Given the description of an element on the screen output the (x, y) to click on. 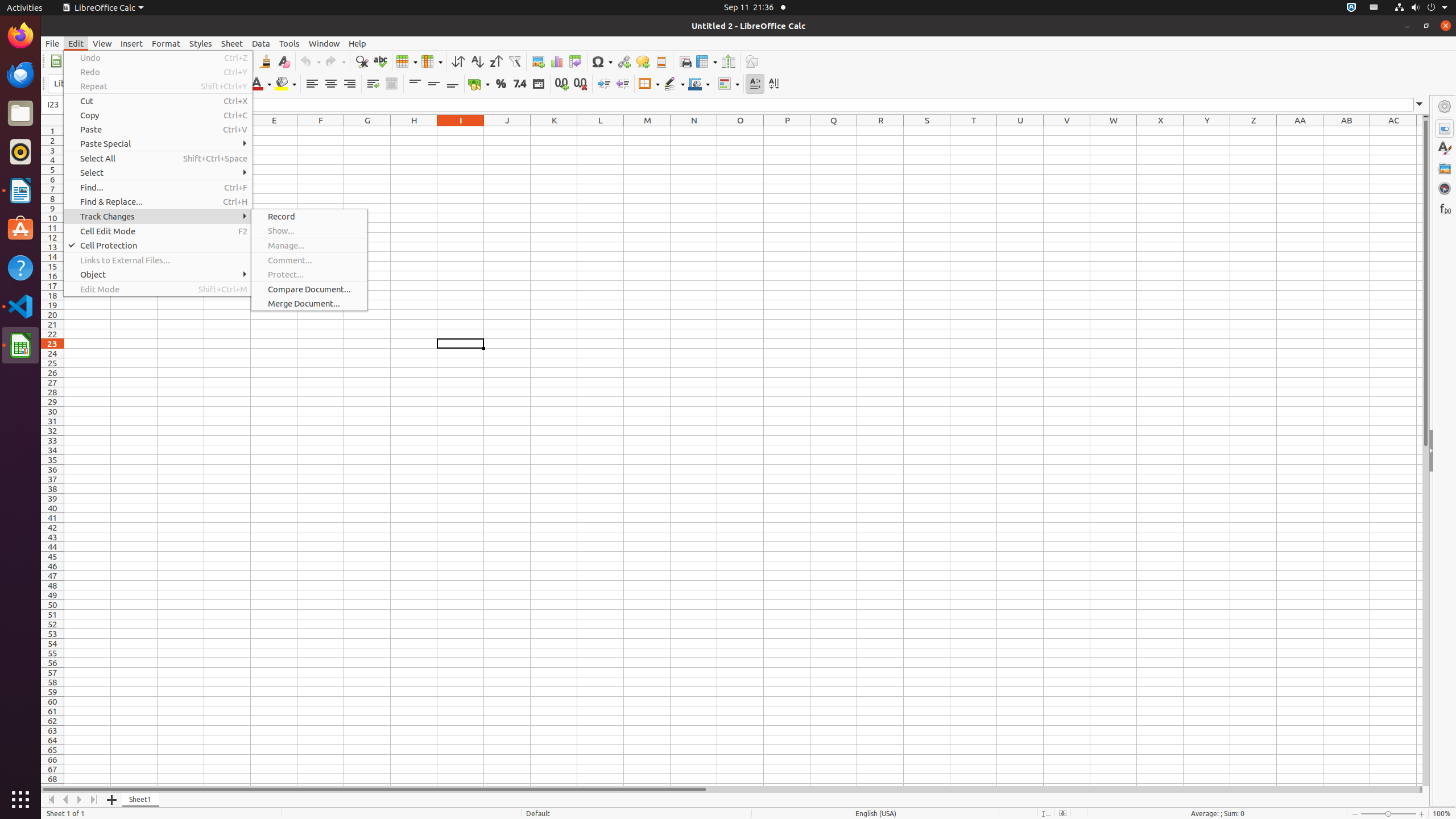
Protect... Element type: menu-item (309, 274)
Move To Home Element type: push-button (51, 799)
LibreOffice Calc Element type: menu (102, 7)
N1 Element type: table-cell (693, 130)
Comment Element type: push-button (642, 61)
